Given the description of an element on the screen output the (x, y) to click on. 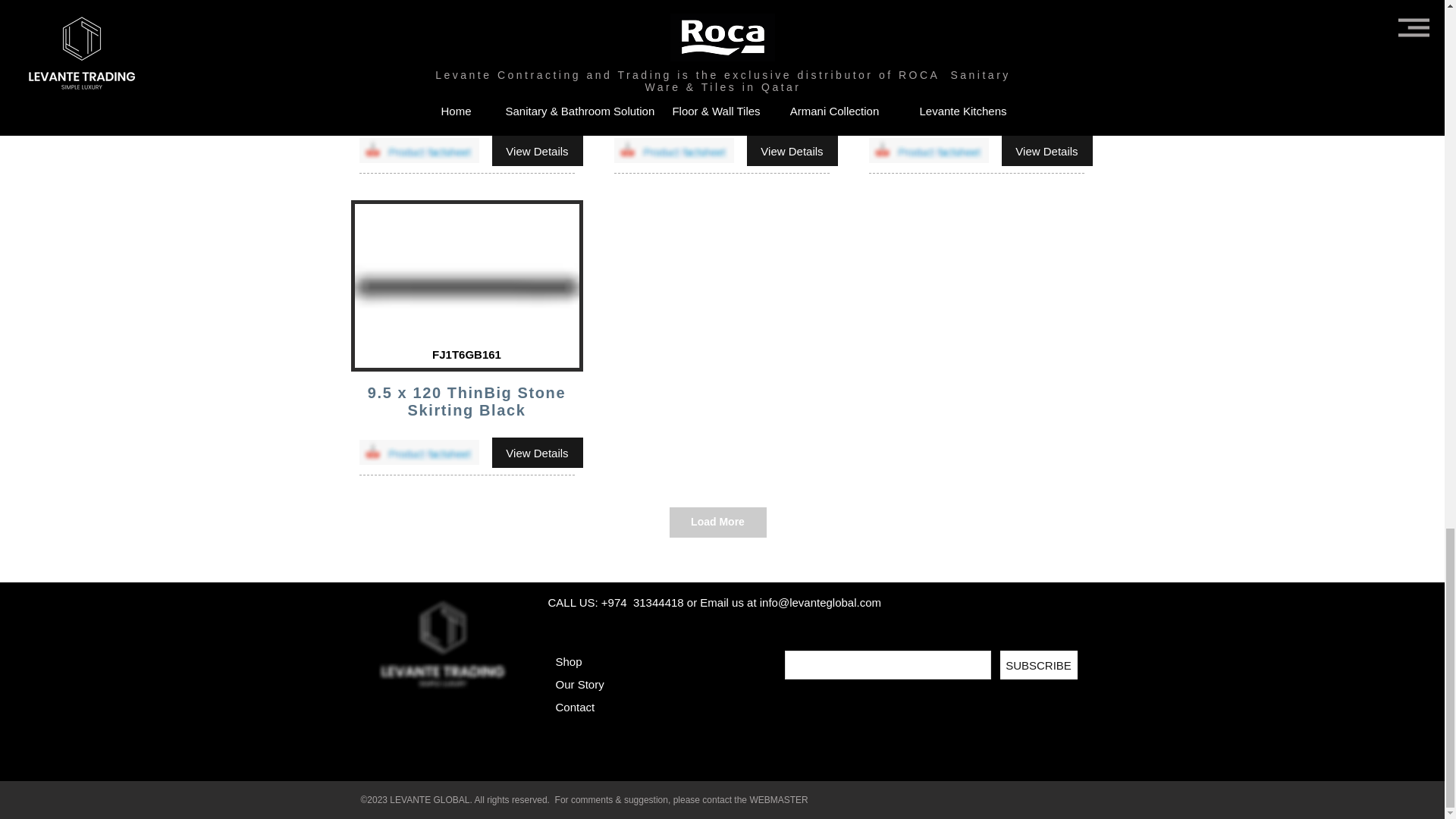
View Details (1046, 150)
View Details (791, 150)
Our Story (579, 684)
View Details (537, 150)
Load More (716, 521)
Shop (567, 661)
View Details (537, 452)
